Given the description of an element on the screen output the (x, y) to click on. 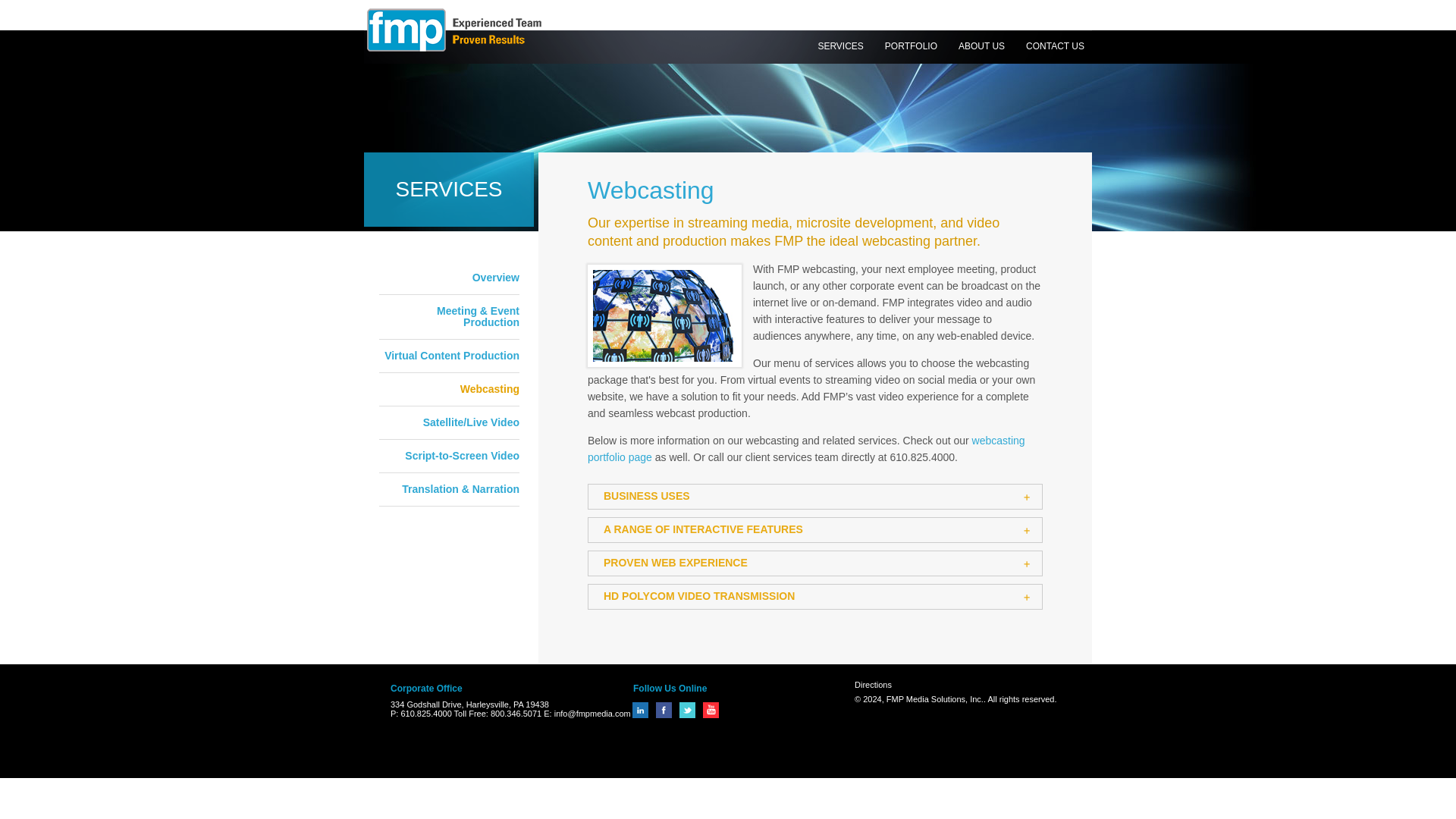
webcasting portfolio page (806, 448)
CONTACT US (1055, 46)
PORTFOLIO (911, 46)
SERVICES (839, 46)
Directions (876, 684)
ABOUT US (981, 46)
Virtual Content Production (448, 355)
Script-to-Screen Video (448, 455)
Overview (448, 277)
Webcasting (448, 389)
